Given the description of an element on the screen output the (x, y) to click on. 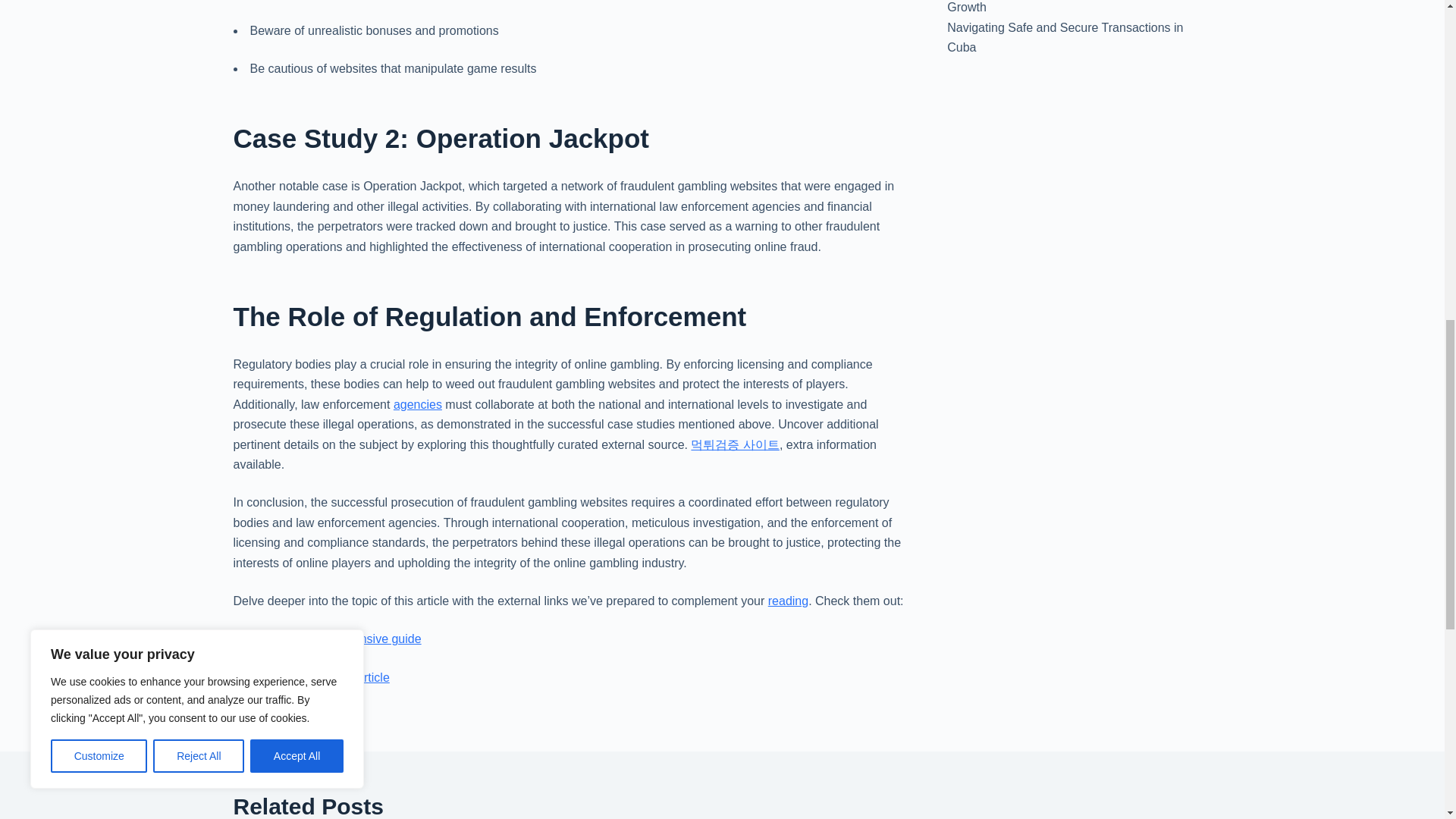
reading (788, 600)
Access this interesting article (311, 676)
Discover this comprehensive guide (327, 638)
agencies (417, 404)
